Given the description of an element on the screen output the (x, y) to click on. 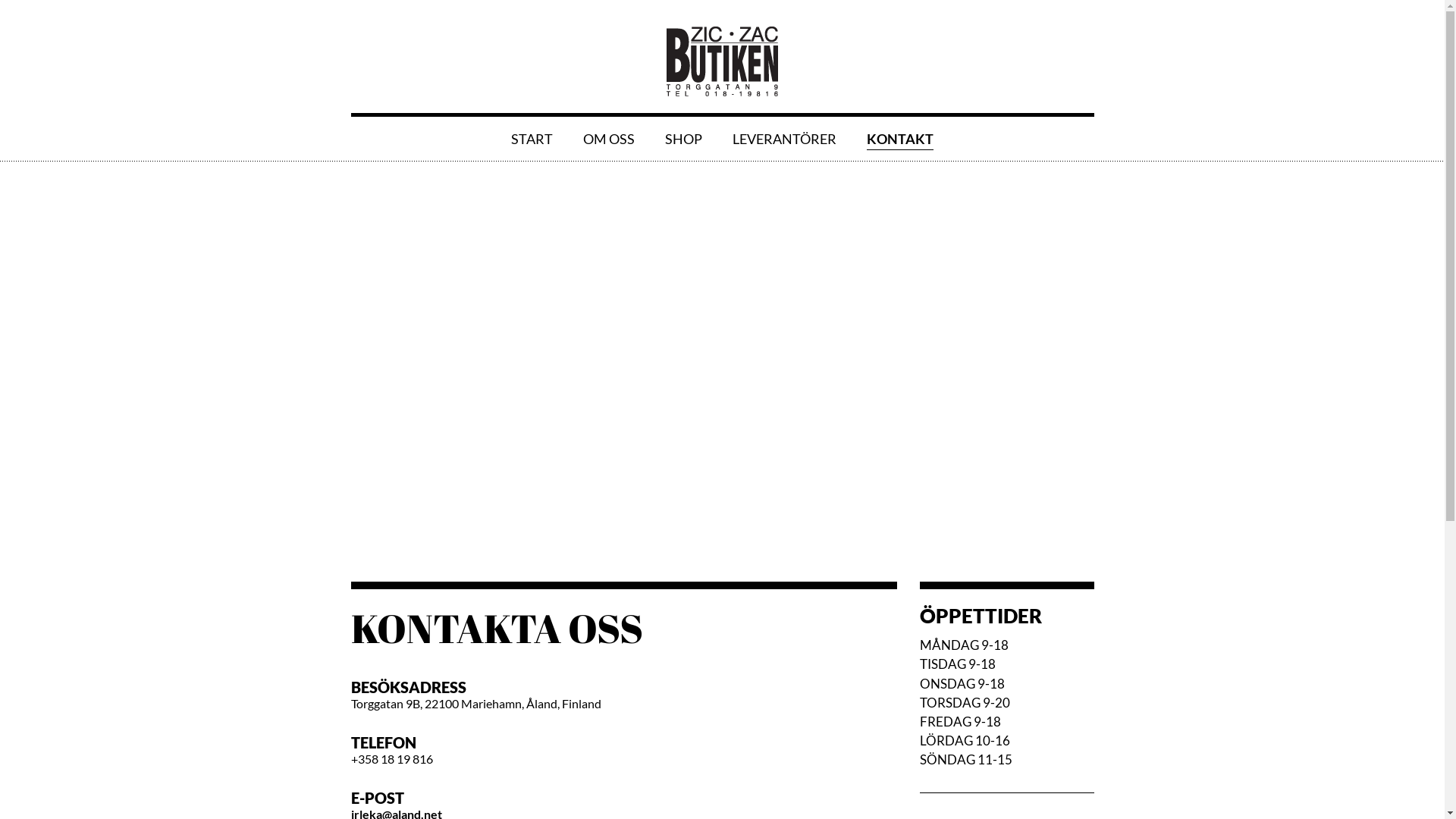
START Element type: text (531, 138)
KONTAKT Element type: text (899, 138)
Hemsida Element type: hover (722, 86)
OM OSS Element type: text (608, 138)
SHOP Element type: text (683, 138)
